Given the description of an element on the screen output the (x, y) to click on. 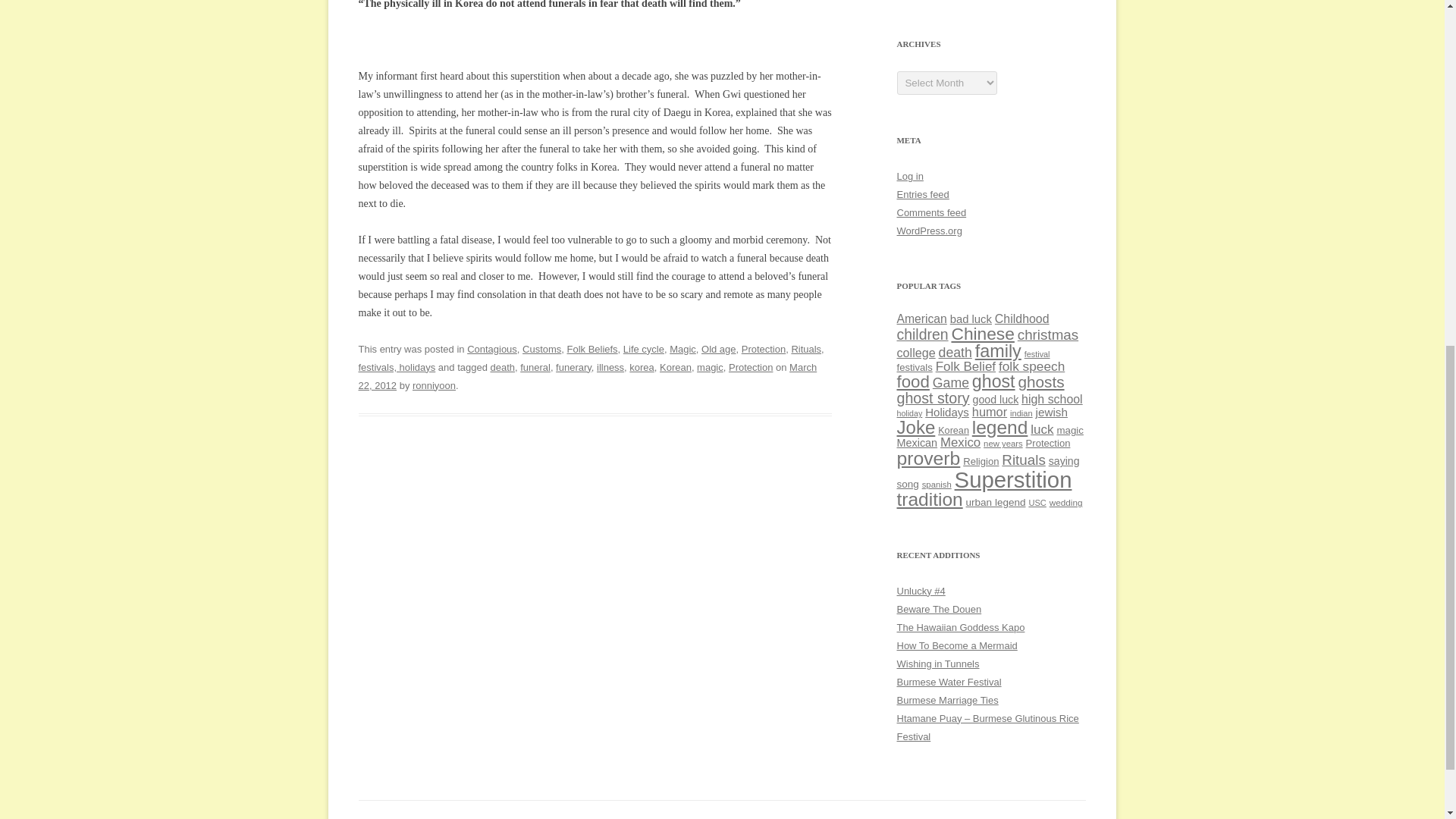
Magic (682, 348)
ronniyoon (433, 385)
Contagious (491, 348)
children (921, 334)
bad luck (970, 318)
festival (1037, 353)
death (955, 352)
Rituals, festivals, holidays (591, 358)
Entries feed (922, 194)
Customs (541, 348)
